Given the description of an element on the screen output the (x, y) to click on. 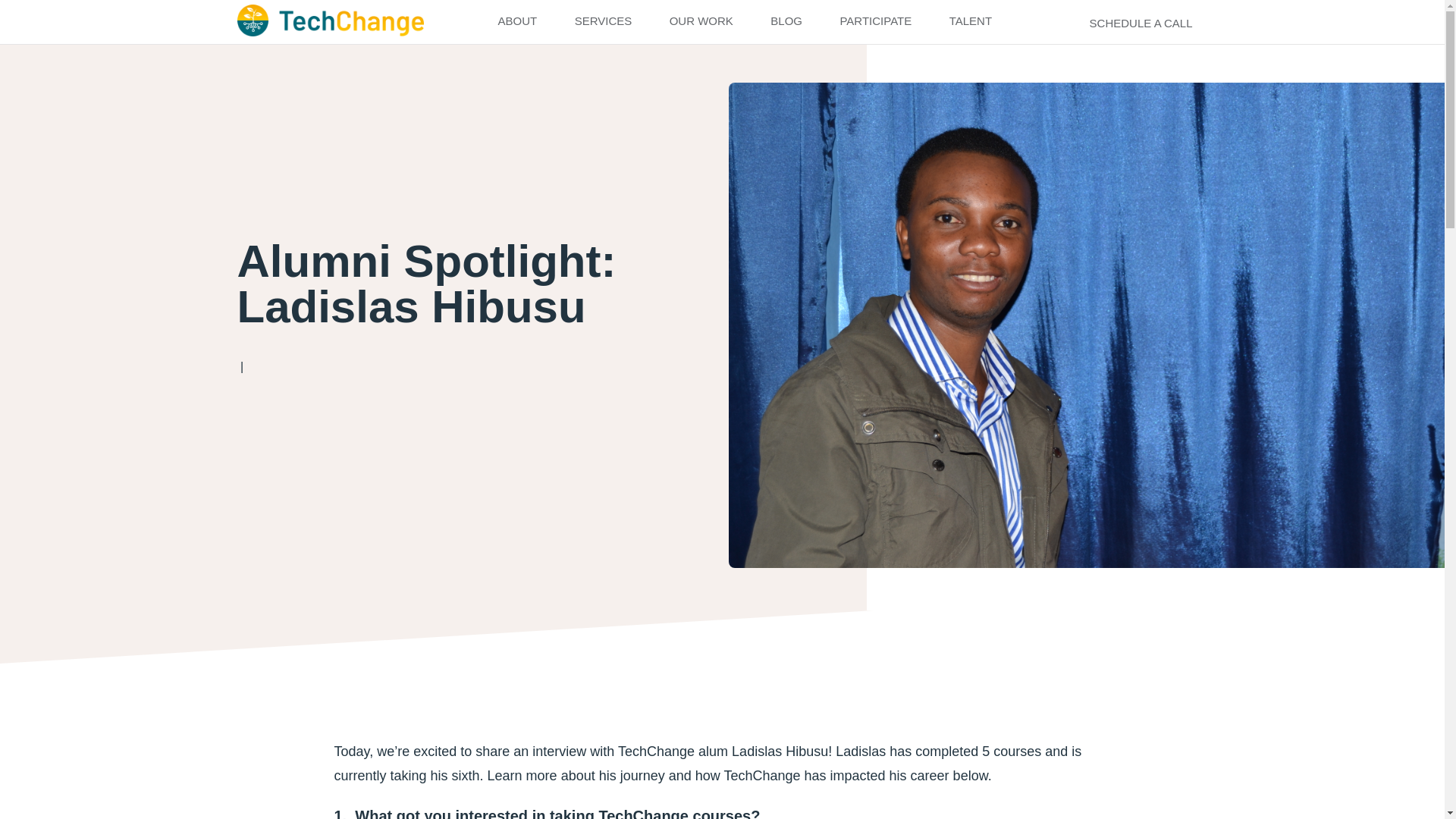
PARTICIPATE (875, 20)
ABOUT (516, 20)
OUR WORK (700, 20)
SERVICES (603, 20)
BLOG (785, 20)
SCHEDULE A CALL (1126, 22)
TALENT (970, 20)
